Given the description of an element on the screen output the (x, y) to click on. 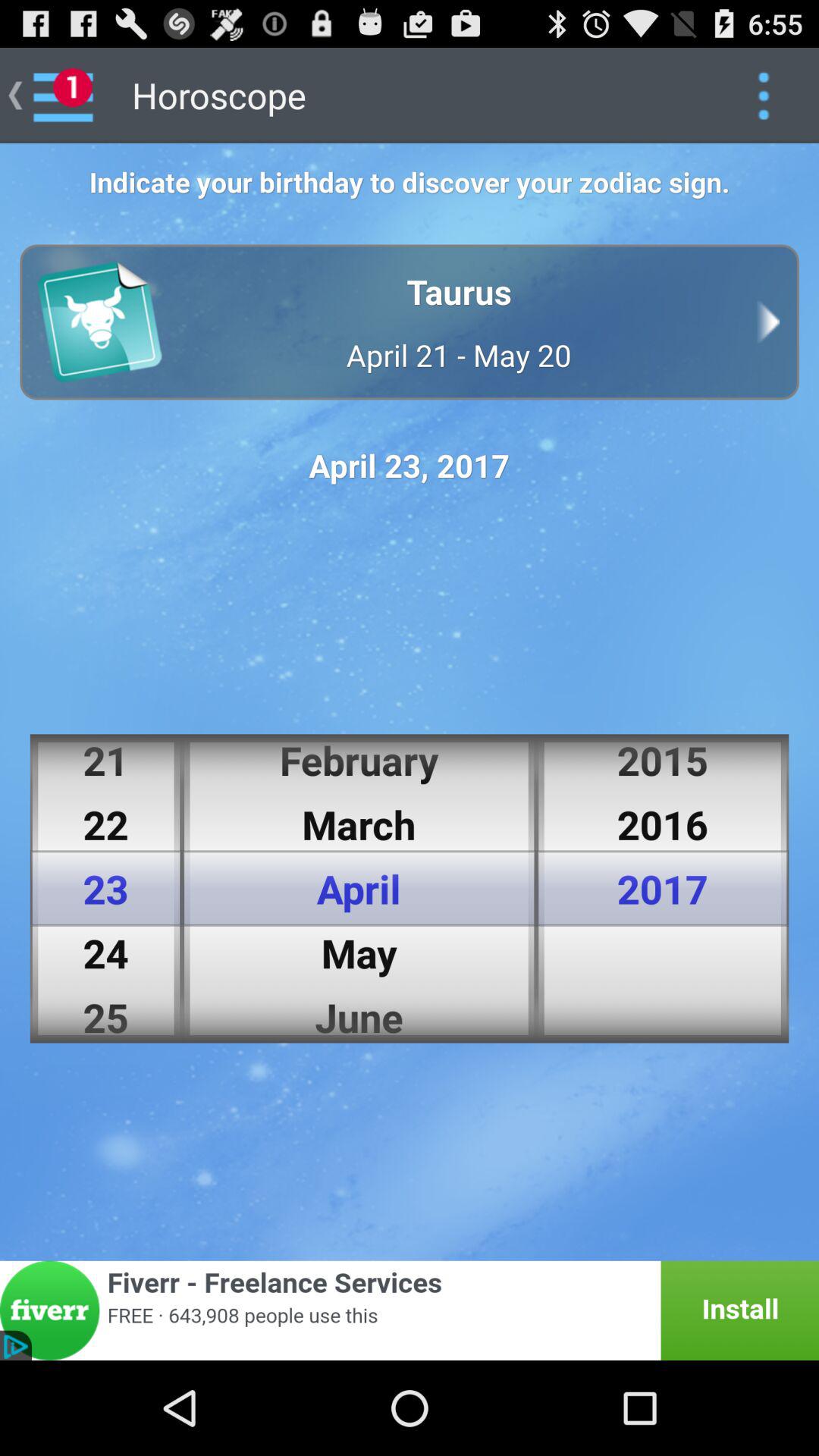
tap icon next to the horoscope app (763, 95)
